Given the description of an element on the screen output the (x, y) to click on. 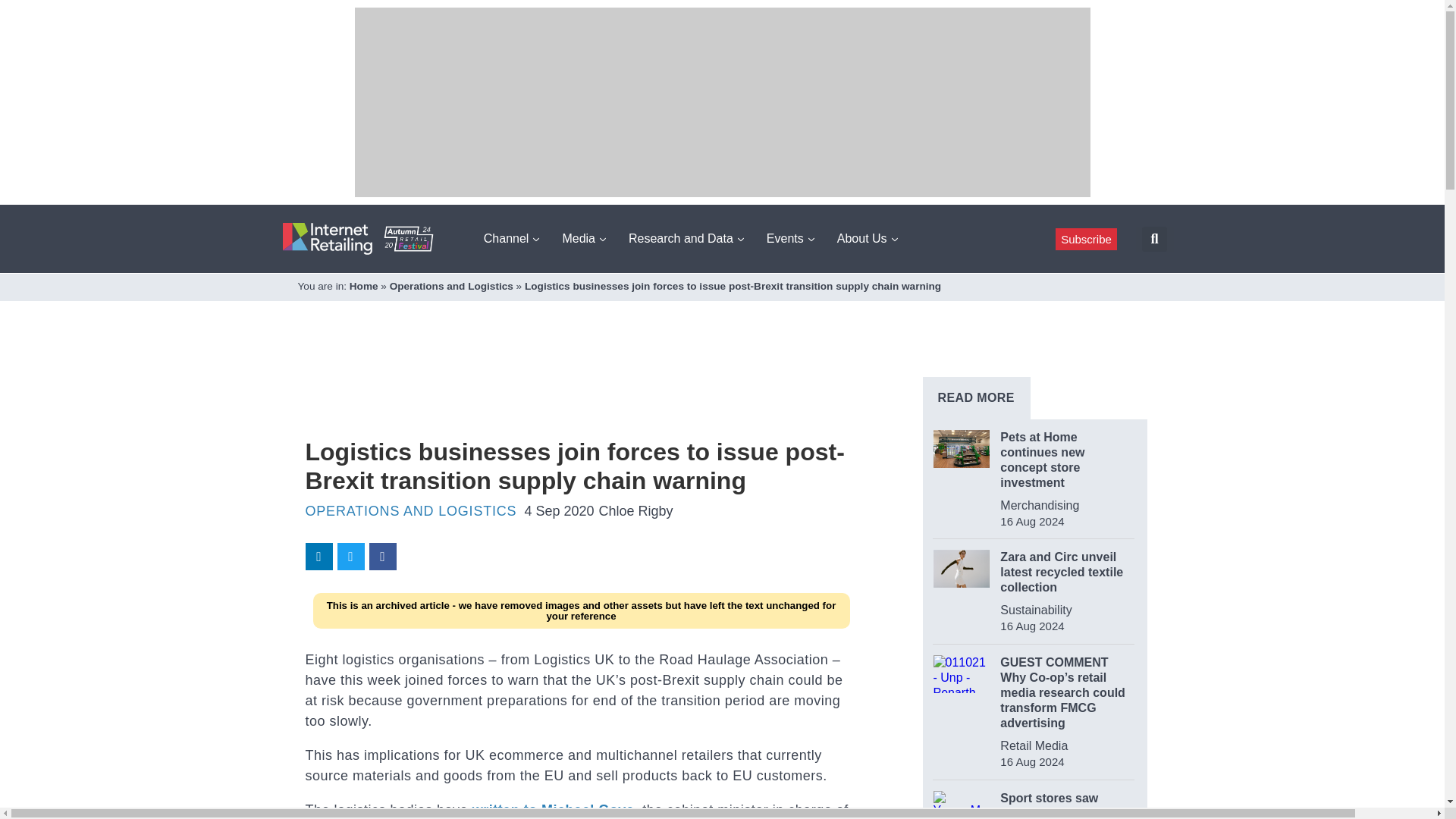
Research and Data (686, 238)
Channel (511, 238)
Media (583, 238)
